Given the description of an element on the screen output the (x, y) to click on. 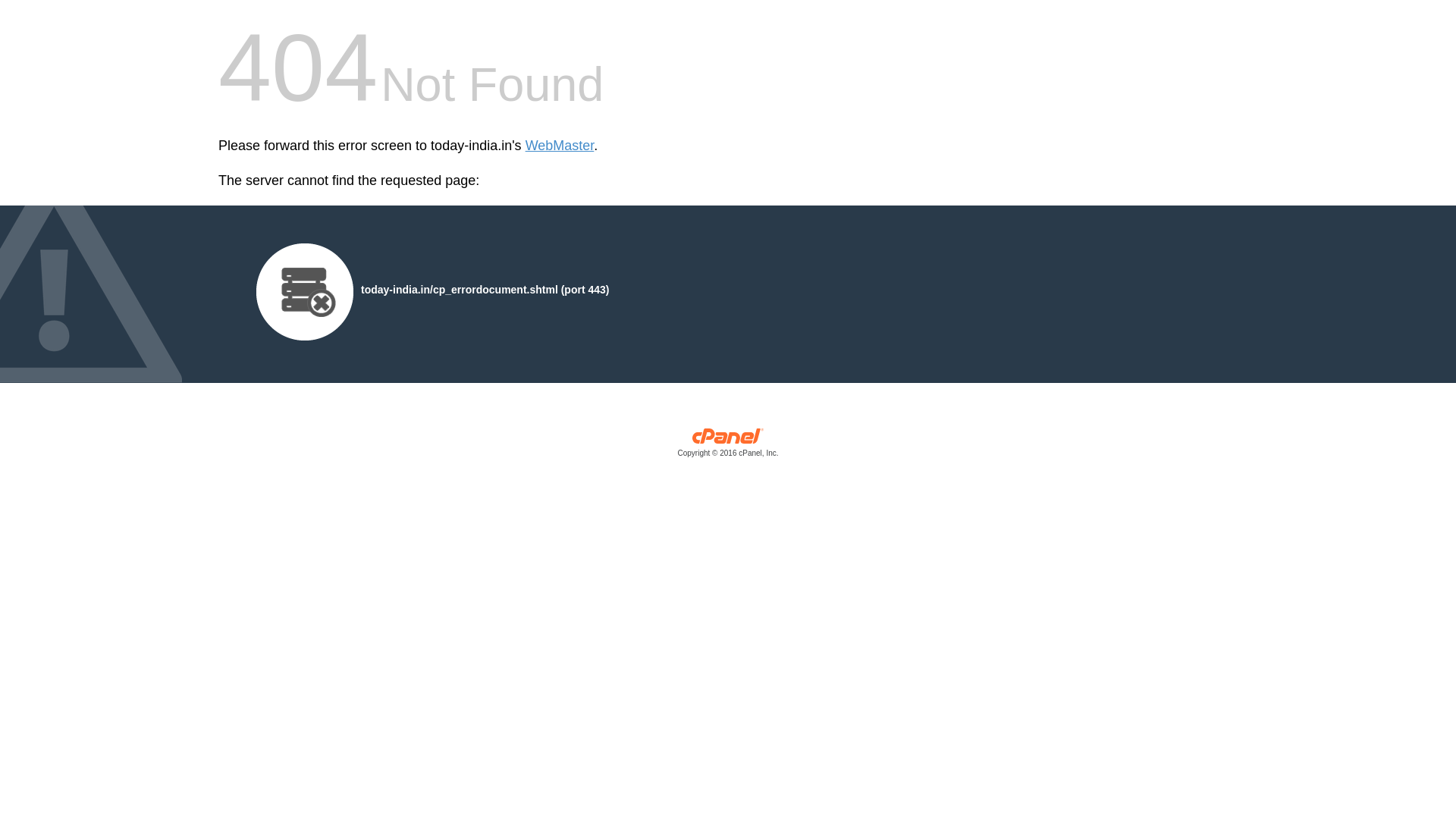
WebMaster (559, 145)
cPanel, Inc. (727, 446)
